Given the description of an element on the screen output the (x, y) to click on. 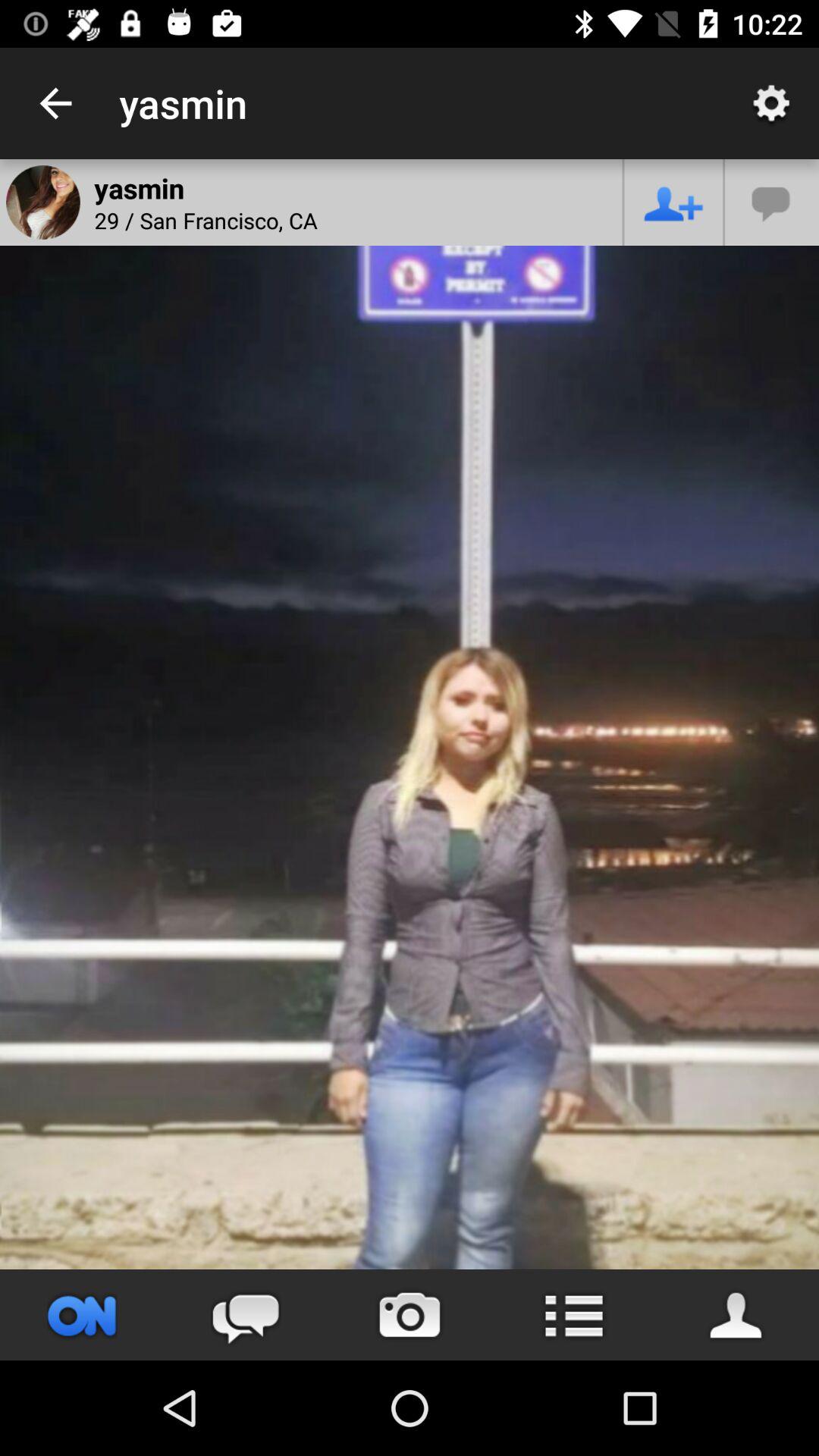
chat or contact button (772, 202)
